Given the description of an element on the screen output the (x, y) to click on. 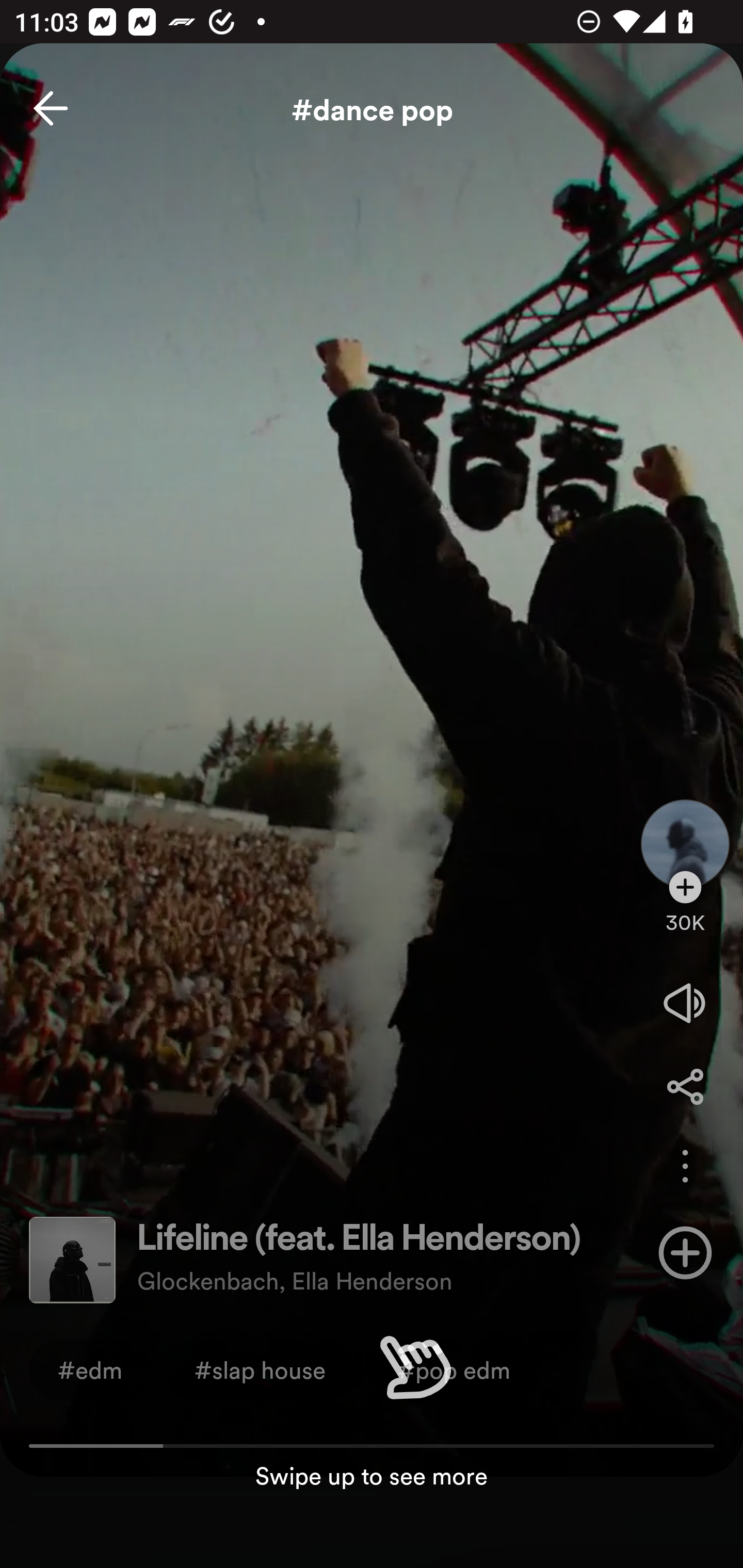
Back (50, 108)
Navigate to Glockenbach artist page (685, 826)
30000 followers. Follow Glockenbach (685, 912)
Mute (685, 1002)
Share (685, 1086)
More options for song  (685, 1166)
Add item (684, 1252)
#edm (89, 1369)
#slap house (259, 1369)
#pop edm (454, 1369)
